Given the description of an element on the screen output the (x, y) to click on. 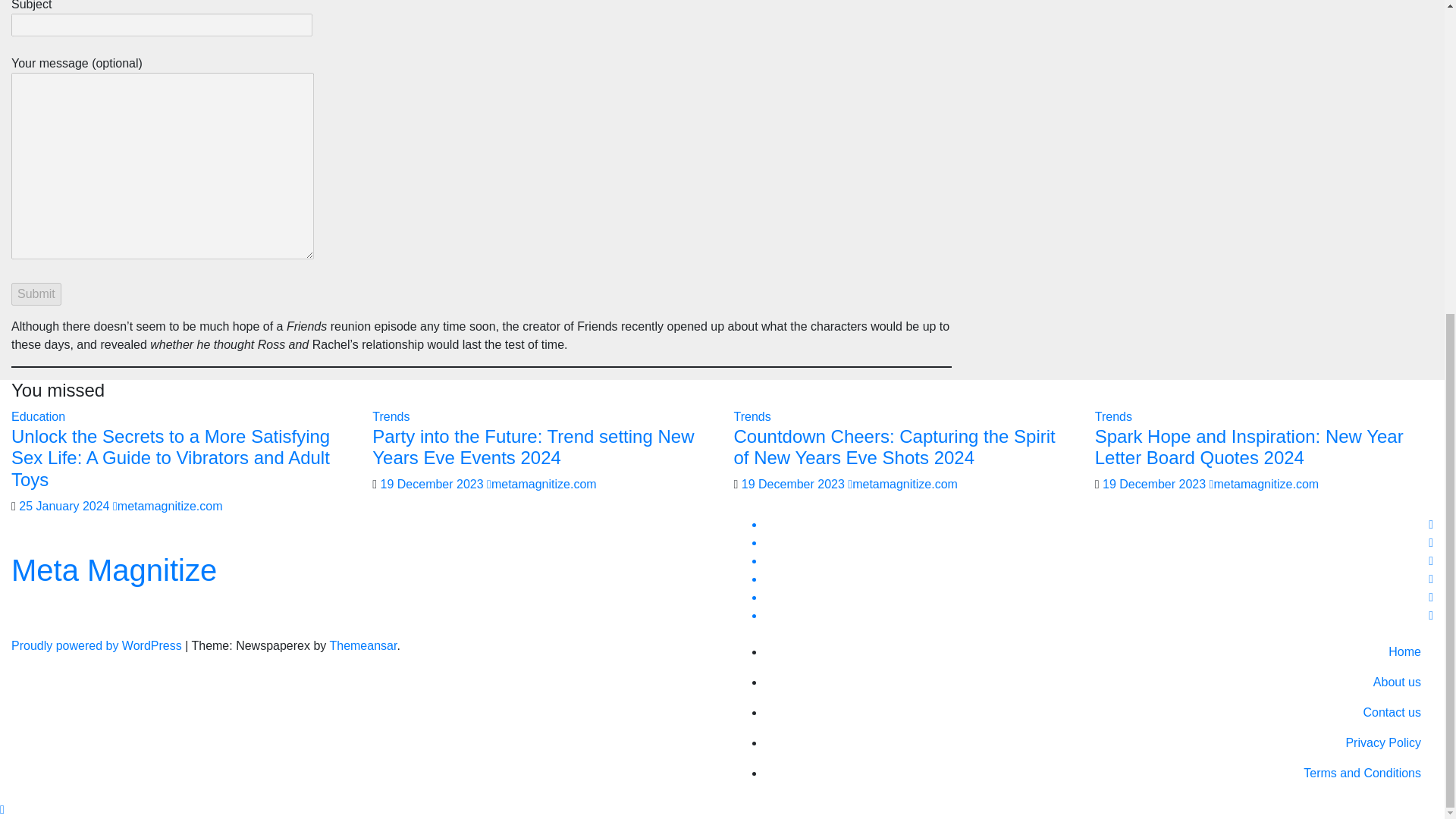
Submit (36, 293)
Home (1099, 652)
25 January 2024 (65, 505)
19 December 2023 (794, 483)
metamagnitize.com (167, 505)
Education (38, 416)
Submit (36, 293)
Trends (752, 416)
Trends (390, 416)
metamagnitize.com (541, 483)
